Given the description of an element on the screen output the (x, y) to click on. 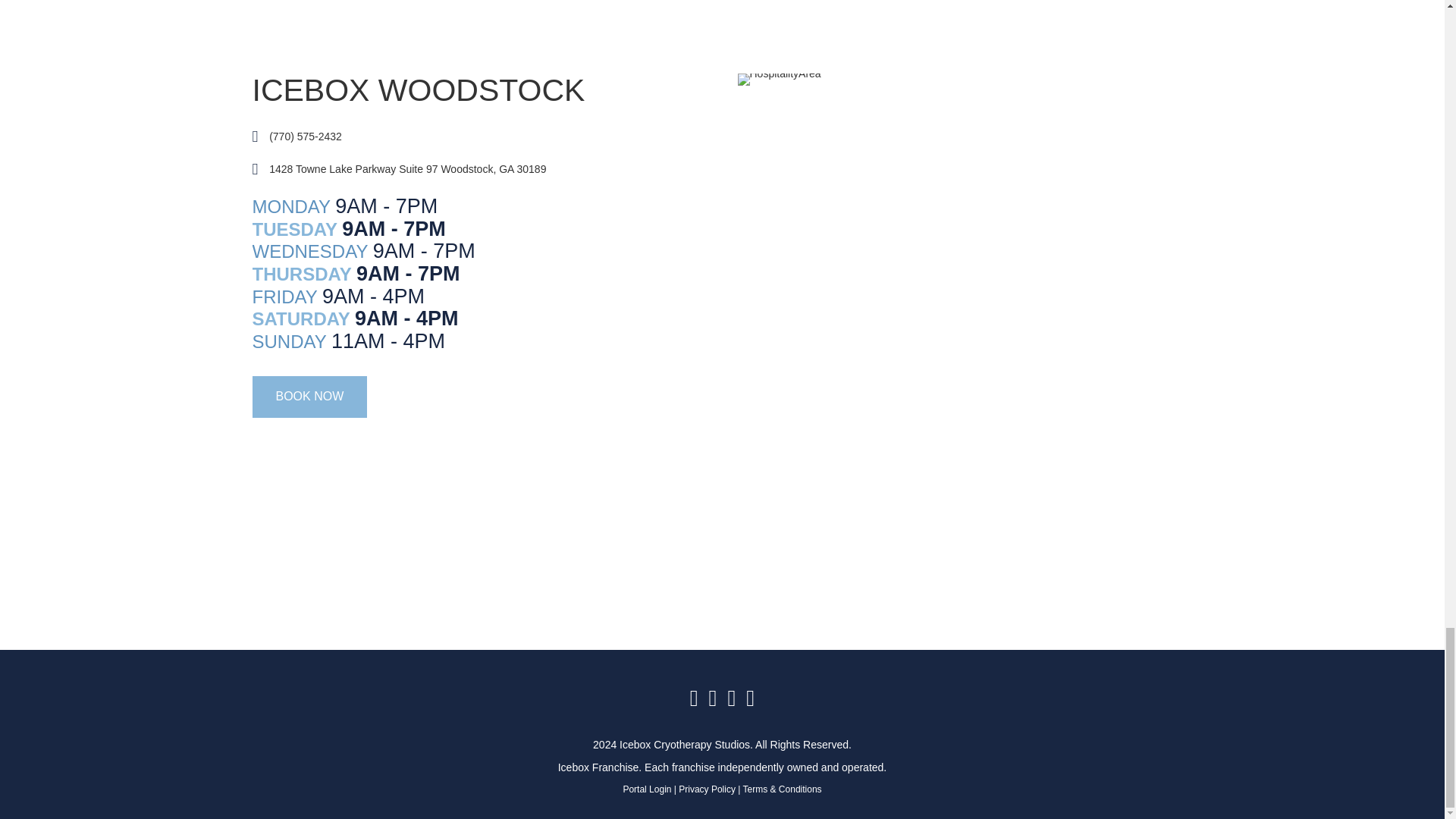
Icebox Franchise (598, 767)
HospitalityArea (778, 79)
BOOK NOW (308, 396)
Privacy Policy (706, 788)
Portal Login (647, 788)
